Given the description of an element on the screen output the (x, y) to click on. 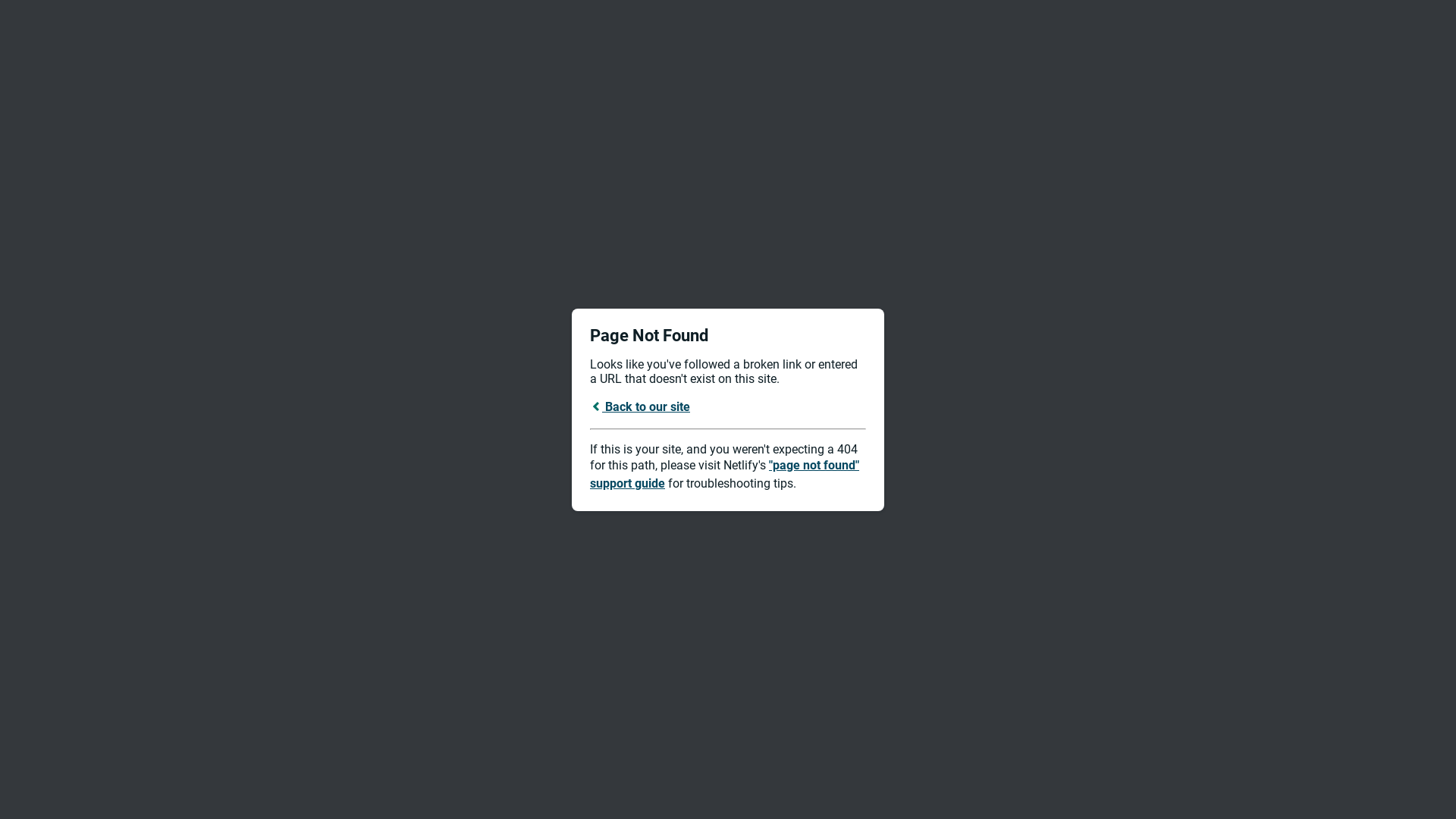
Back to our site Element type: text (639, 405)
"page not found" support guide Element type: text (724, 474)
